Given the description of an element on the screen output the (x, y) to click on. 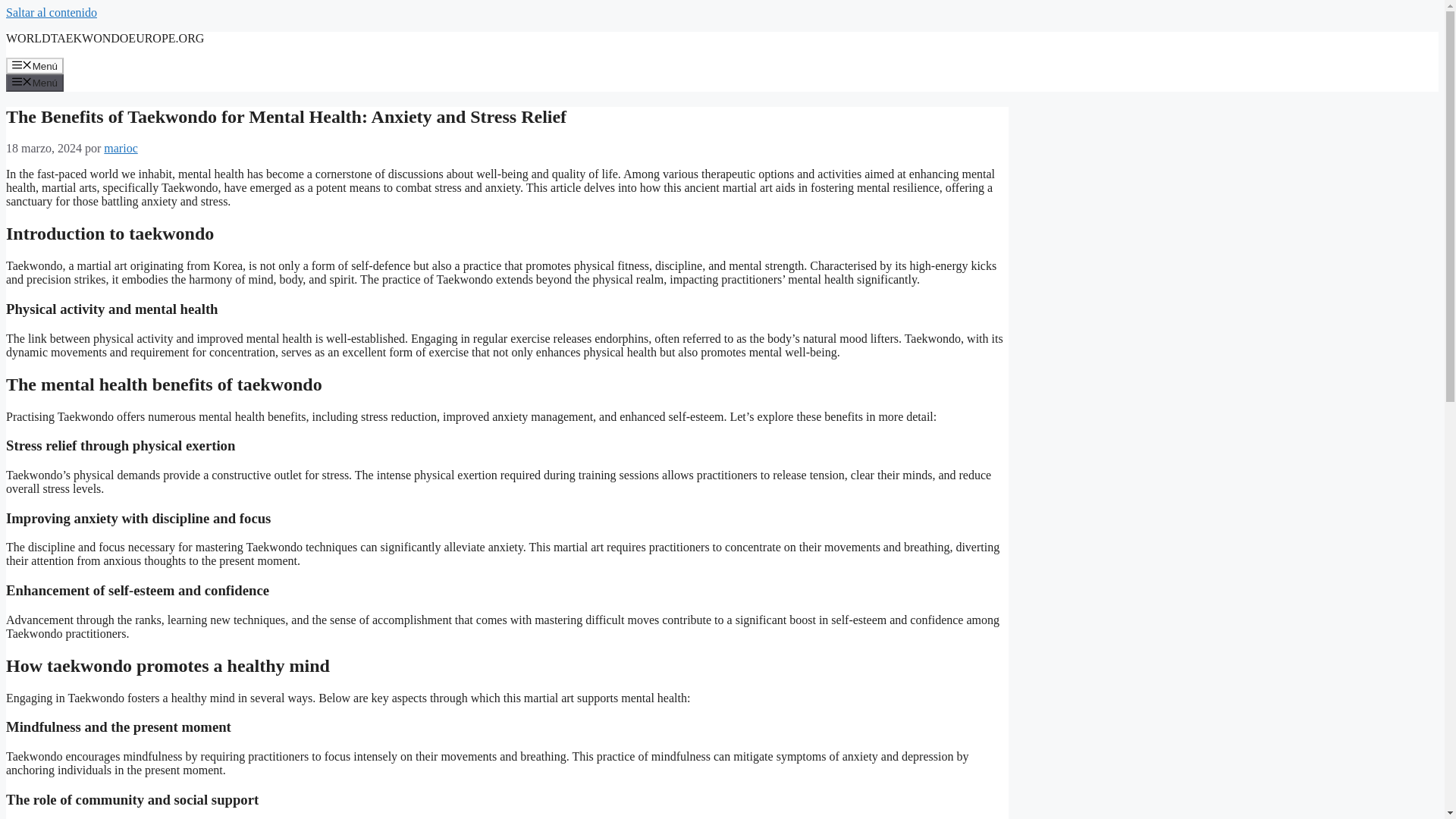
WORLDTAEKWONDOEUROPE.ORG (104, 38)
Saltar al contenido (51, 11)
Ver todas las entradas de marioc (119, 147)
marioc (119, 147)
Saltar al contenido (51, 11)
